Given the description of an element on the screen output the (x, y) to click on. 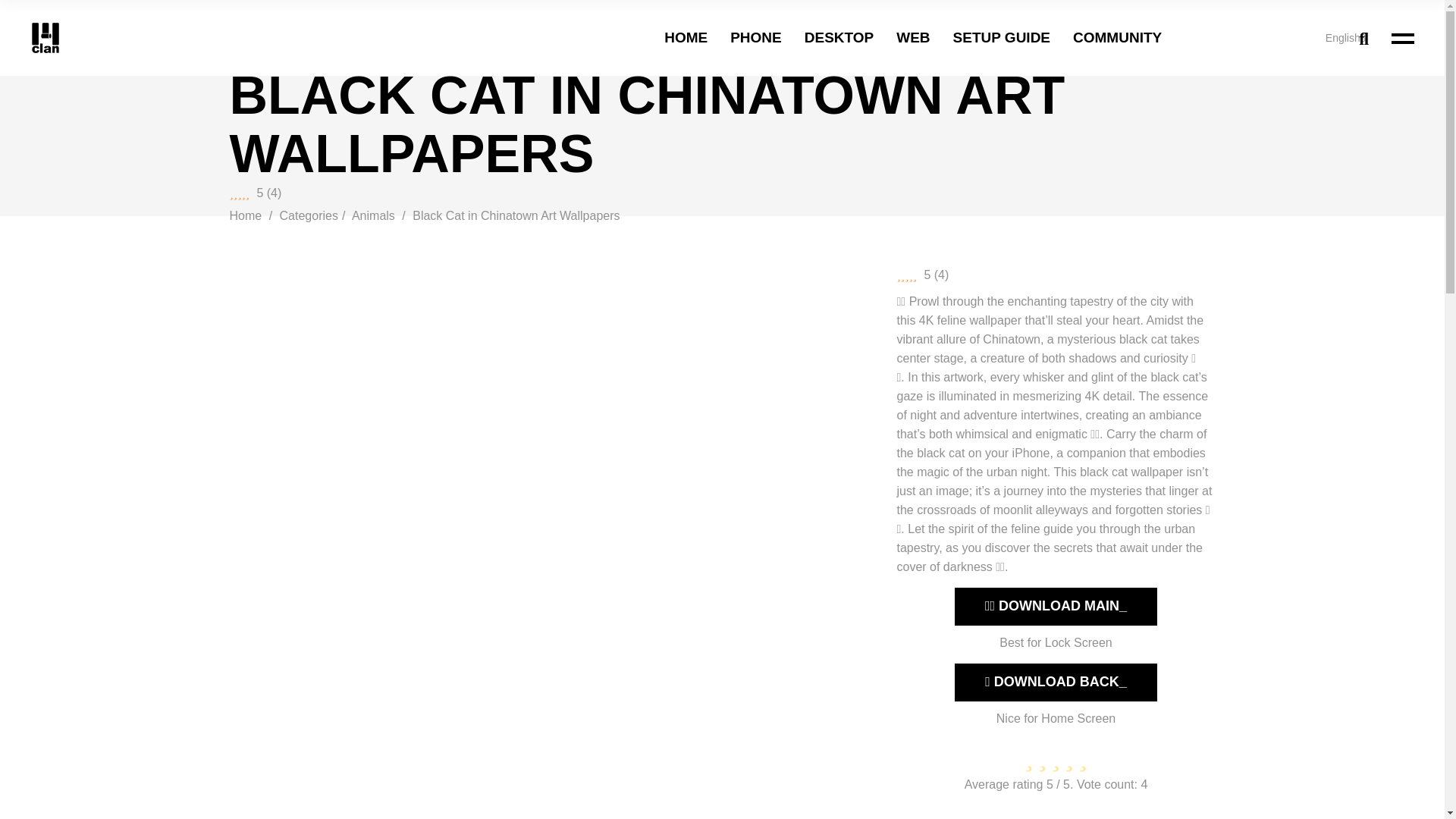
English (1260, 37)
COMMUNITY (1117, 38)
SETUP GUIDE (1001, 38)
DESKTOP (840, 38)
